Given the description of an element on the screen output the (x, y) to click on. 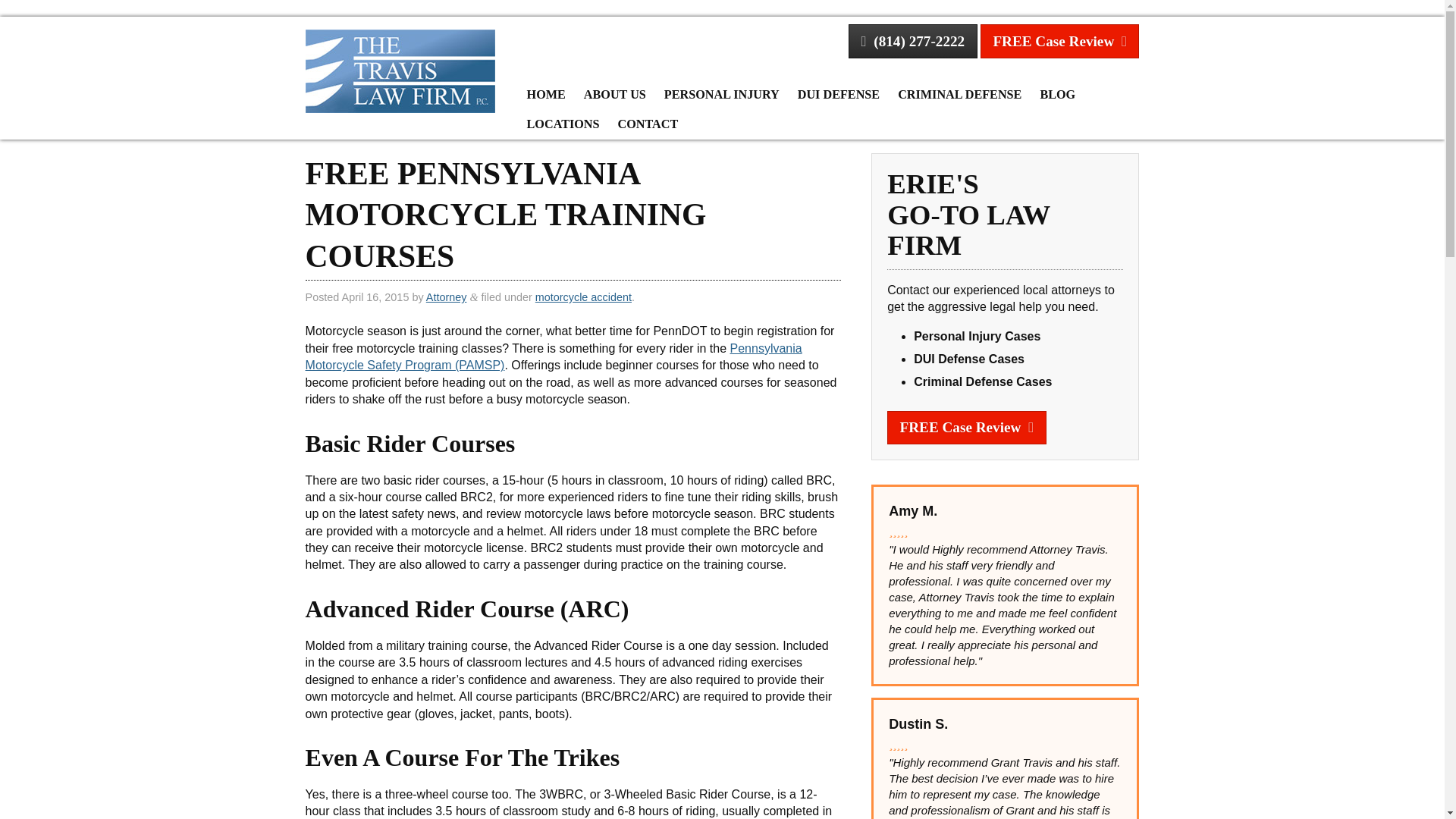
CRIMINAL DEFENSE (959, 95)
FREE Case Review (1058, 40)
ABOUT US (615, 95)
HOME (546, 95)
LOCATIONS (563, 124)
PERSONAL INJURY (722, 95)
DUI DEFENSE (838, 95)
Posts by Attorney (446, 297)
The Travis Law Firm (400, 69)
